Given the description of an element on the screen output the (x, y) to click on. 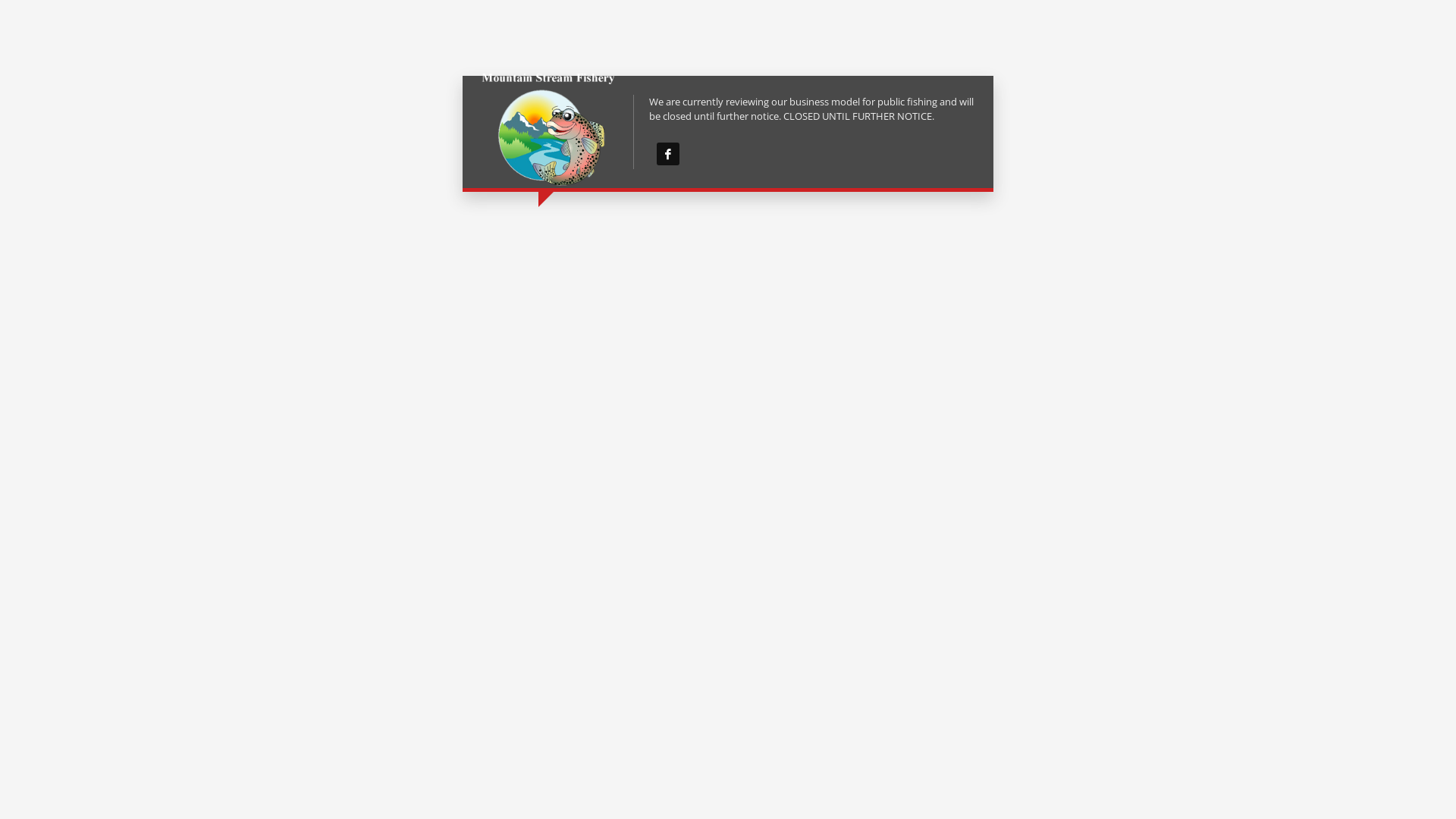
Home of the Golden Trout Element type: hover (547, 131)
Mountain Stream Fishery Element type: hover (667, 153)
